Given the description of an element on the screen output the (x, y) to click on. 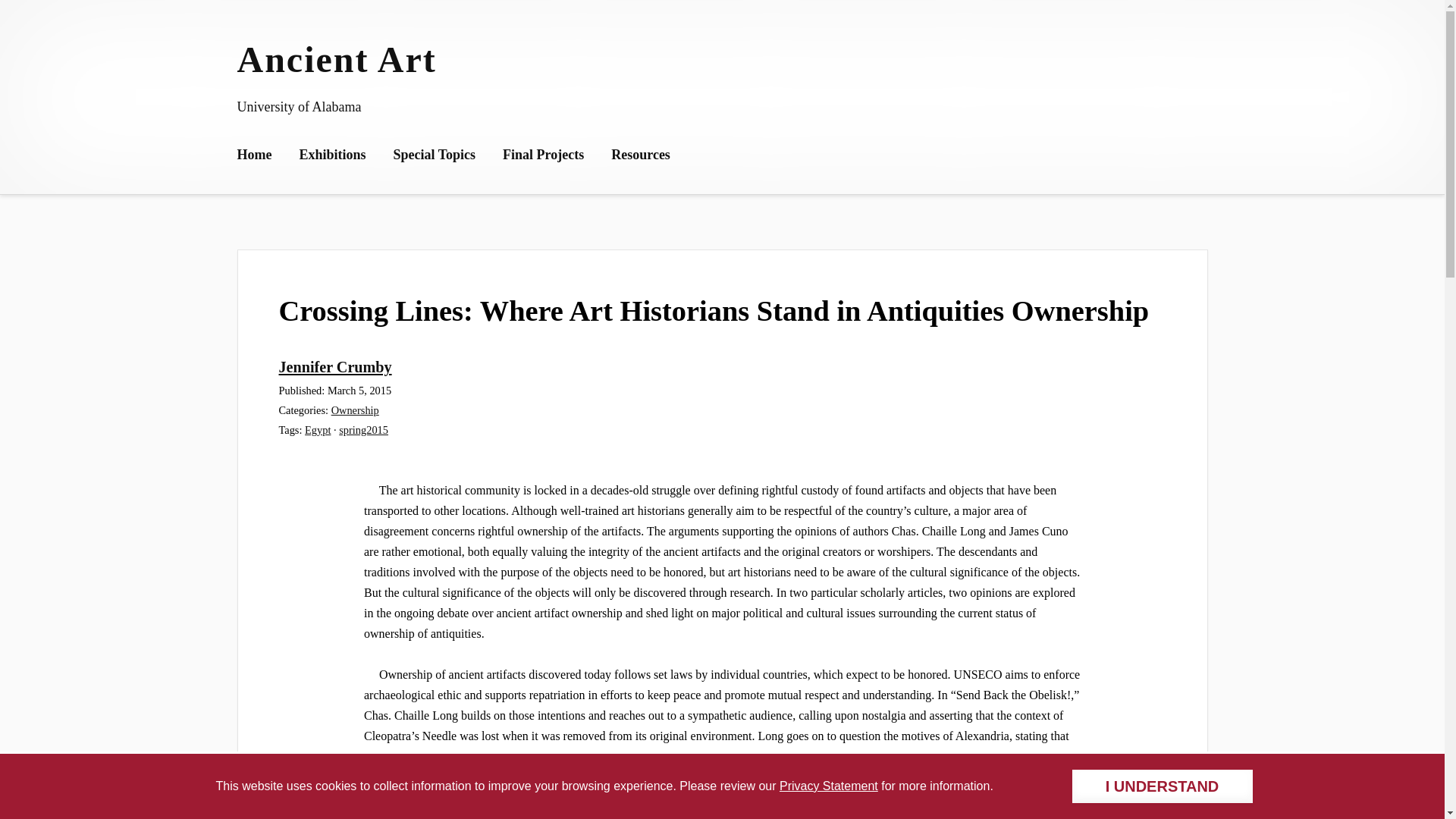
Final Projects (542, 155)
Egypt (313, 229)
Ownership (421, 229)
Elgin Marbles (429, 269)
Ownership (354, 410)
Digital Exhibition (548, 188)
Ancient Art (335, 59)
Resources (640, 155)
Looting (412, 188)
Research and Analysis (560, 269)
Egypt (317, 429)
Privacy Statement (827, 785)
Jennifer Crumby (335, 366)
Special Topics (434, 155)
Reconstructions (543, 229)
